Given the description of an element on the screen output the (x, y) to click on. 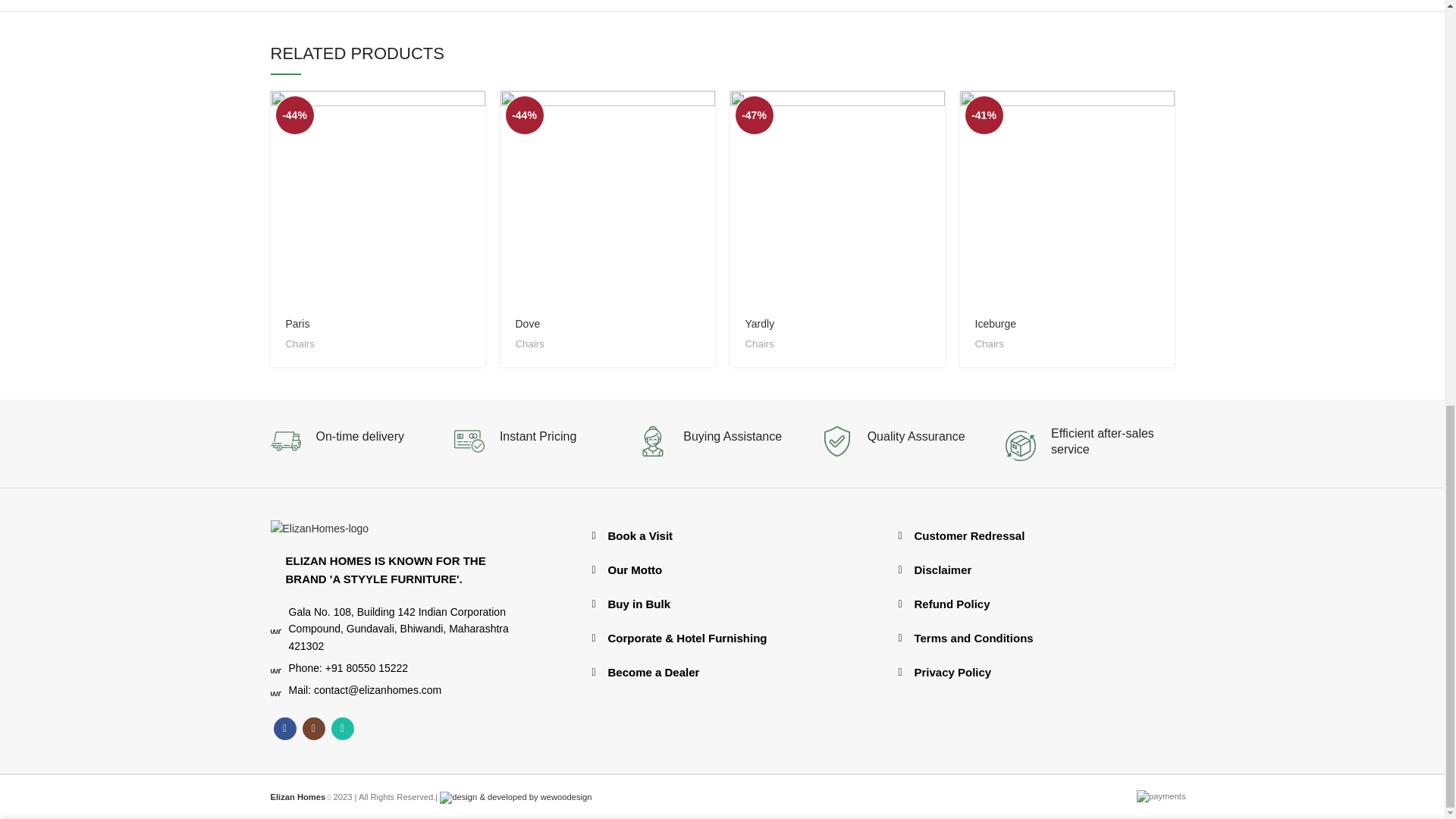
ElizanHomes-logo (318, 528)
wd-phone-dark.svg (275, 667)
wd-envelope-dark.svg (275, 690)
wd-cursor-dark.svg (275, 628)
